Given the description of an element on the screen output the (x, y) to click on. 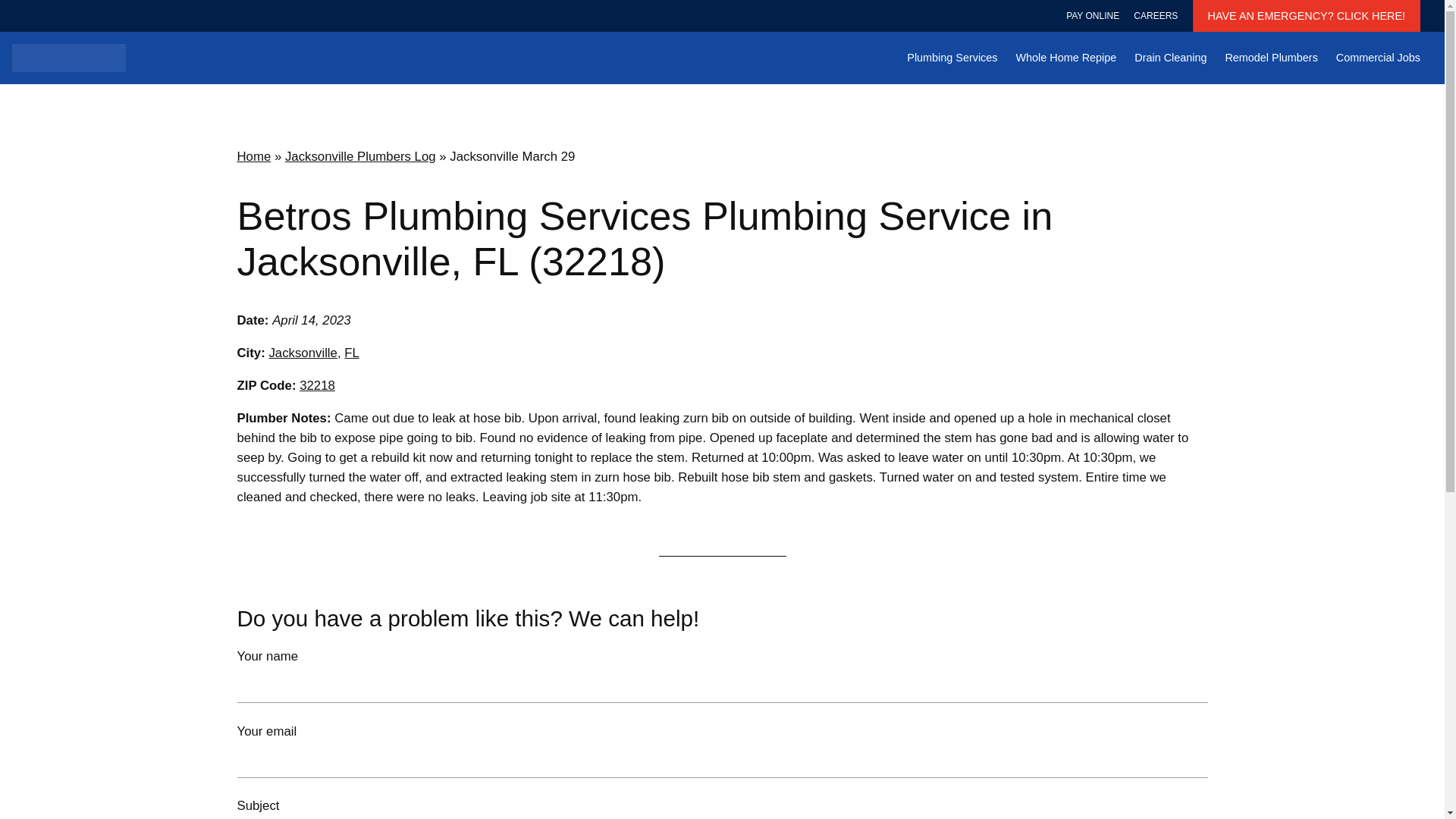
FL (351, 352)
Betros Plumbing serves 32218 (316, 385)
Betros Plumbing serves FL (351, 352)
Betros Plumbing serves Jacksonville (301, 352)
Home (252, 156)
Commercial Jobs (1378, 57)
Jacksonville (301, 352)
Plumbing Services (952, 57)
Jacksonville Plumbers Log (360, 156)
Remodel Plumbers (1270, 57)
